Given the description of an element on the screen output the (x, y) to click on. 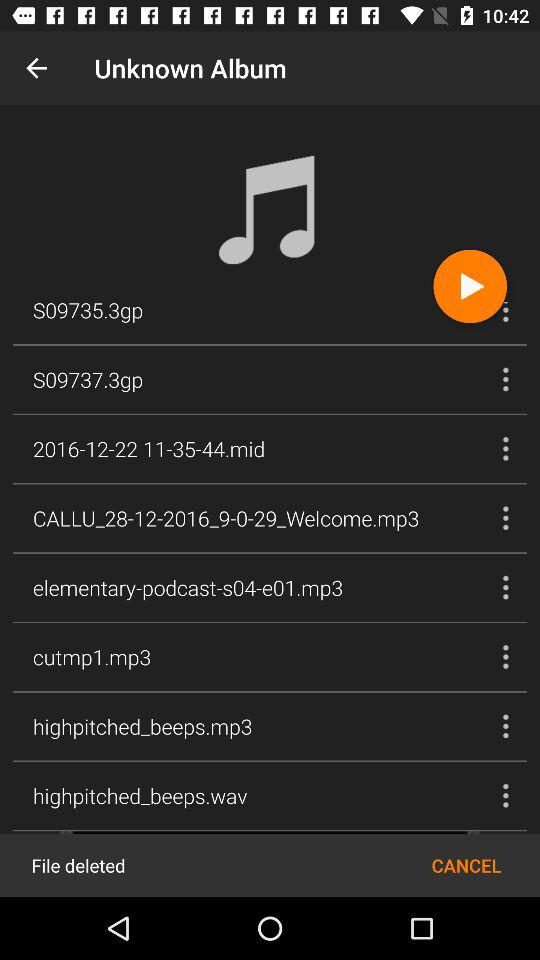
play and pause (470, 286)
